Given the description of an element on the screen output the (x, y) to click on. 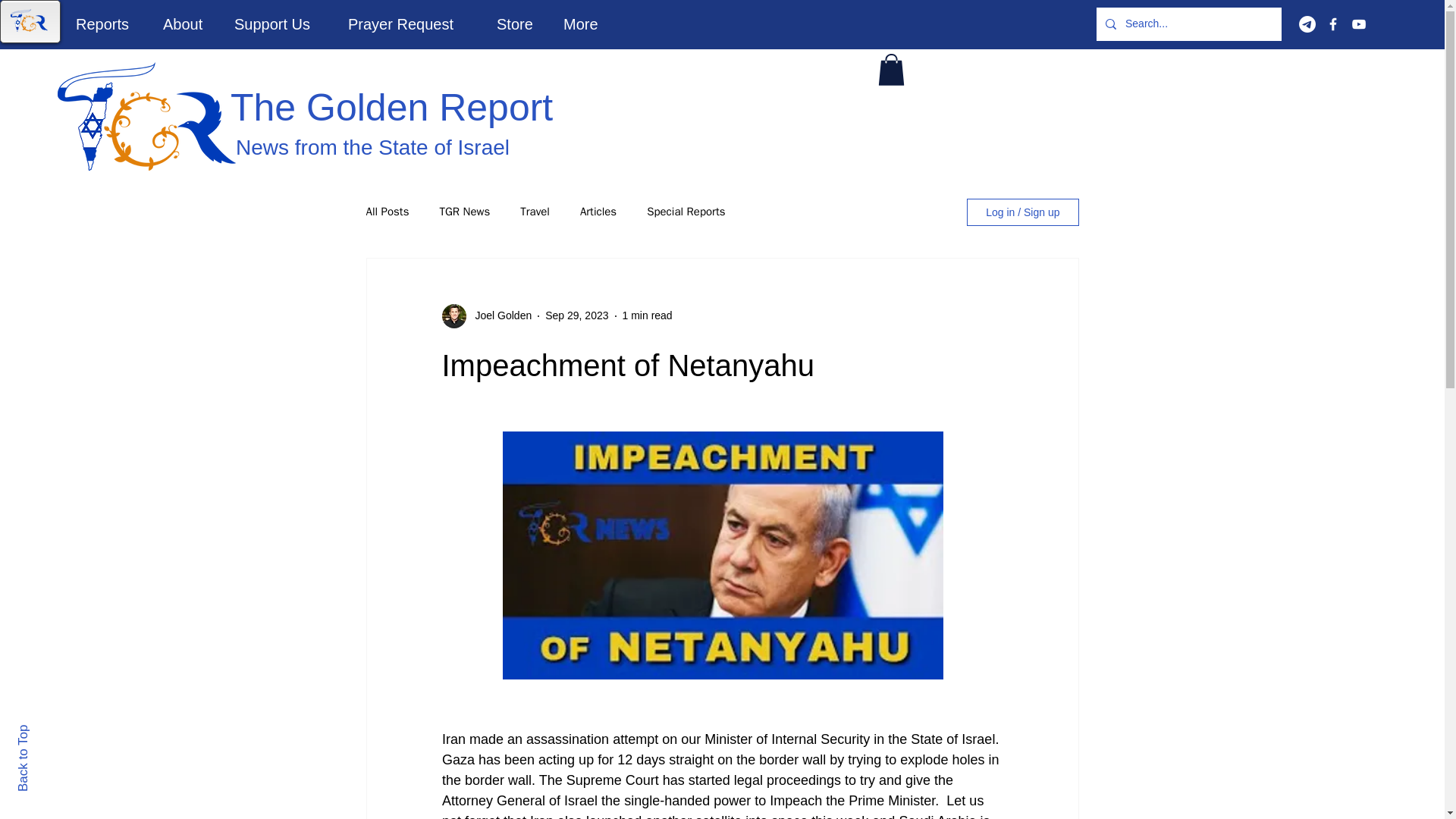
Back to Top (49, 730)
Joel Golden (498, 315)
Reports (107, 24)
Prayer Request (410, 24)
TGR News (464, 211)
Articles (597, 211)
Travel (534, 211)
Store (517, 24)
1 min read (647, 315)
All Posts (387, 211)
About (186, 24)
Special Reports (685, 211)
Support Us (279, 24)
Sep 29, 2023 (576, 315)
